Given the description of an element on the screen output the (x, y) to click on. 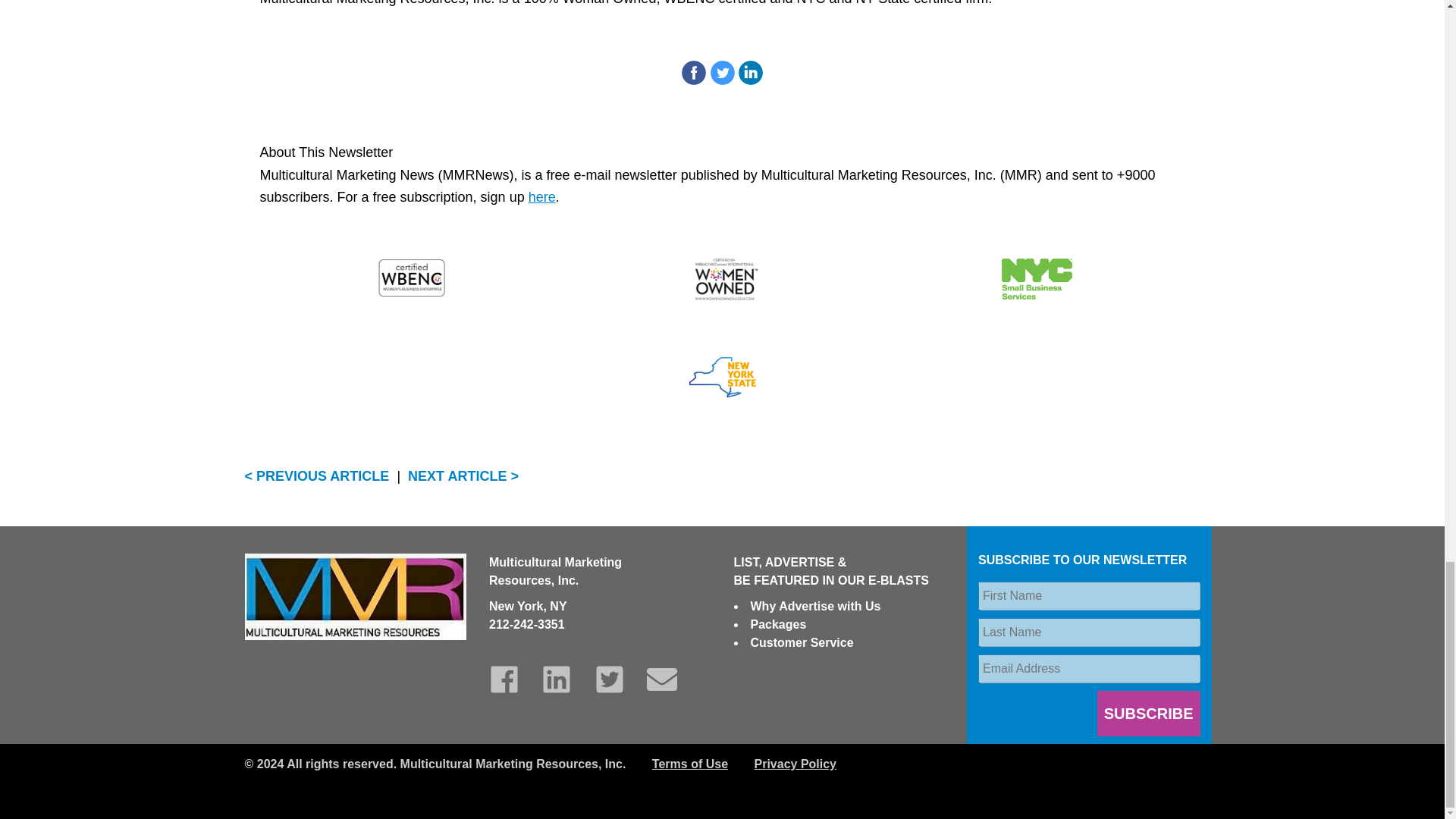
SUBSCRIBE (1148, 713)
